Given the description of an element on the screen output the (x, y) to click on. 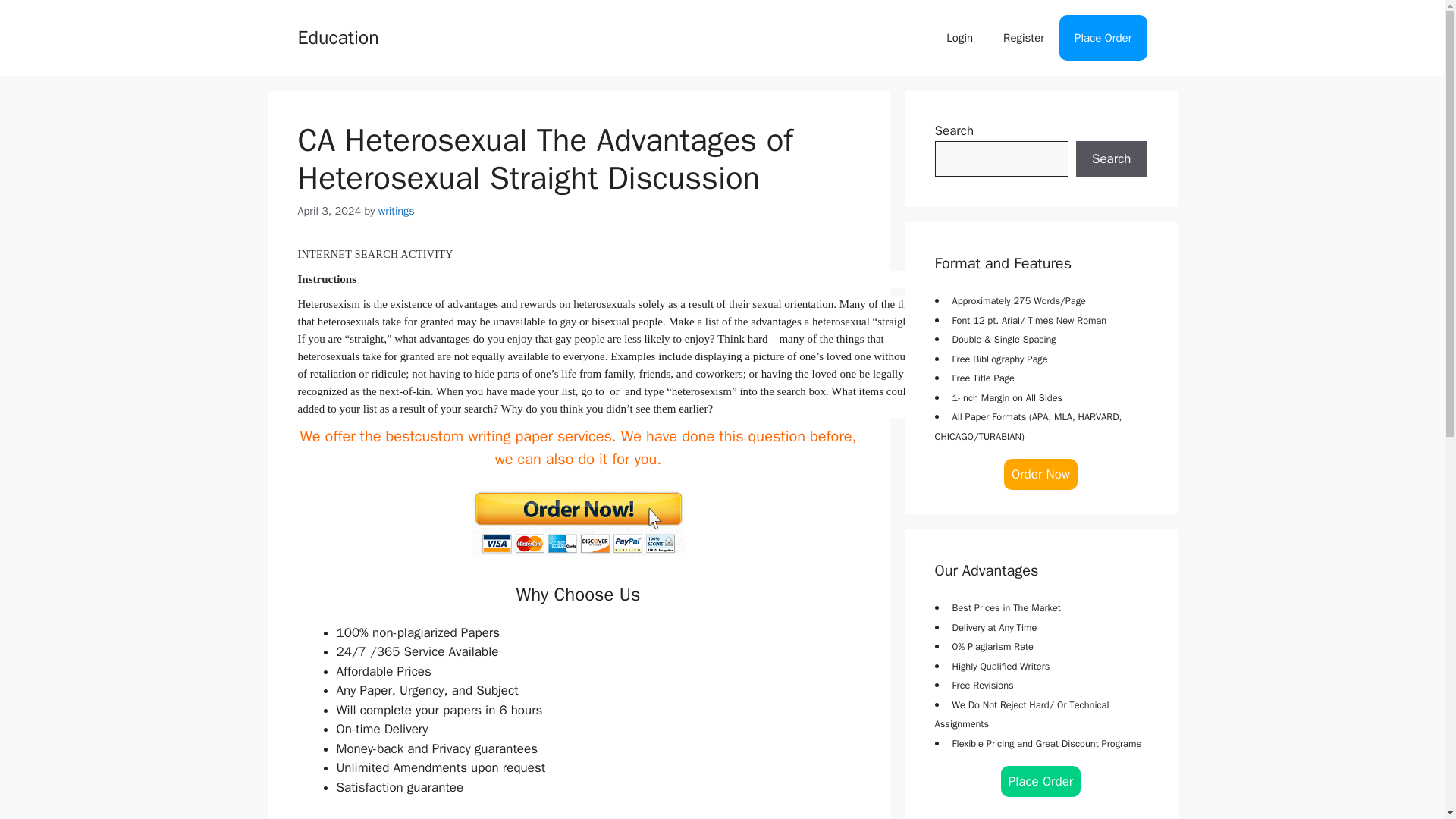
Place Order (1103, 37)
Order Now (1040, 472)
Place Order (1041, 780)
Education (337, 37)
writings (396, 210)
Login (959, 37)
View all posts by writings (396, 210)
Search (1111, 158)
Register (1023, 37)
